Given the description of an element on the screen output the (x, y) to click on. 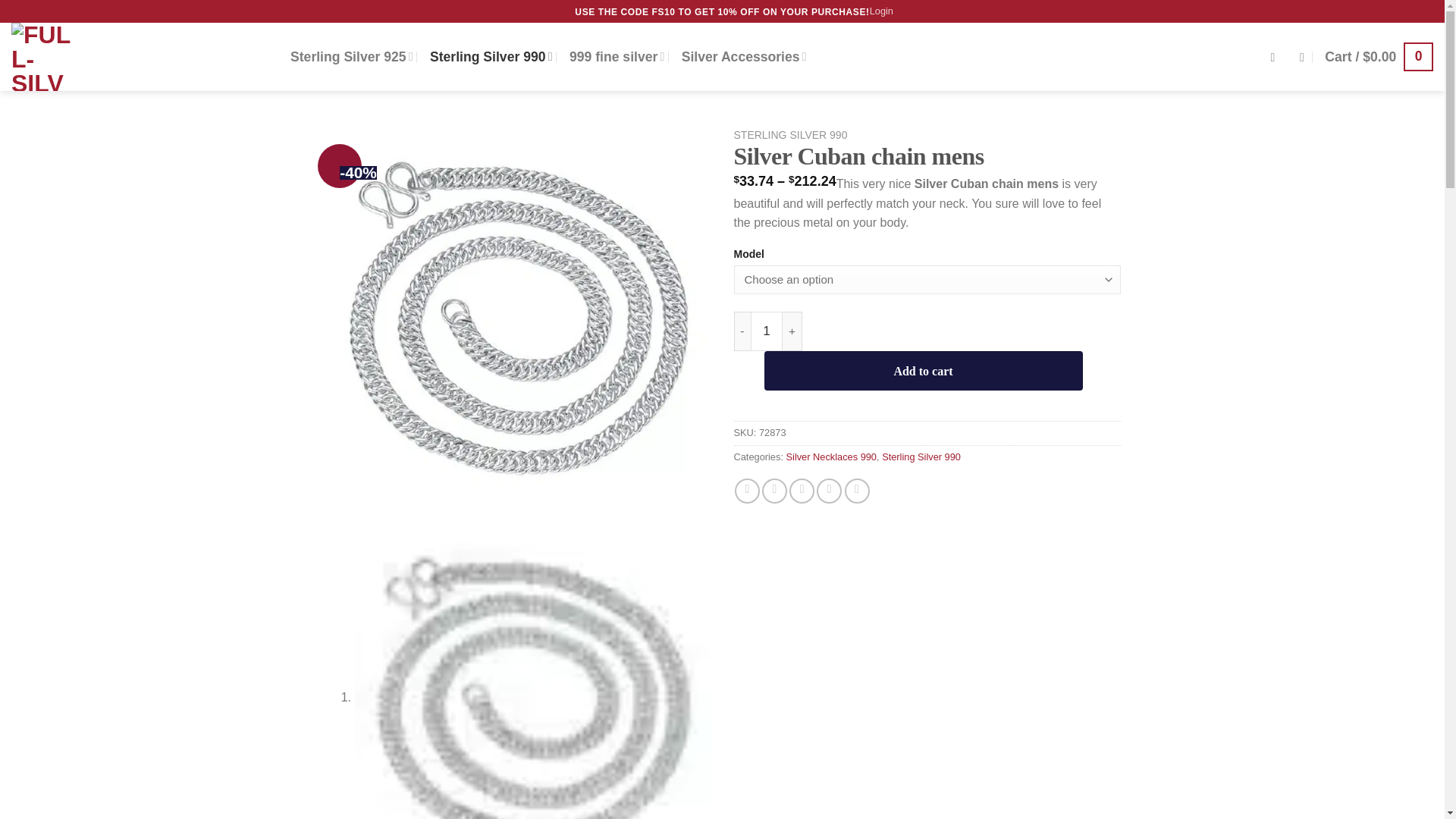
Login (881, 11)
Sterling Silver 925 (351, 56)
Login (881, 11)
Share on LinkedIn (856, 490)
Share on Facebook (747, 490)
Sterling Silver 990 (491, 56)
Share on Twitter (774, 490)
Pin on Pinterest (828, 490)
Email to a Friend (801, 490)
FULL-SILVER - silver shop (139, 56)
Cart (1378, 56)
Silver Accessories (743, 56)
999 fine silver (616, 56)
